Given the description of an element on the screen output the (x, y) to click on. 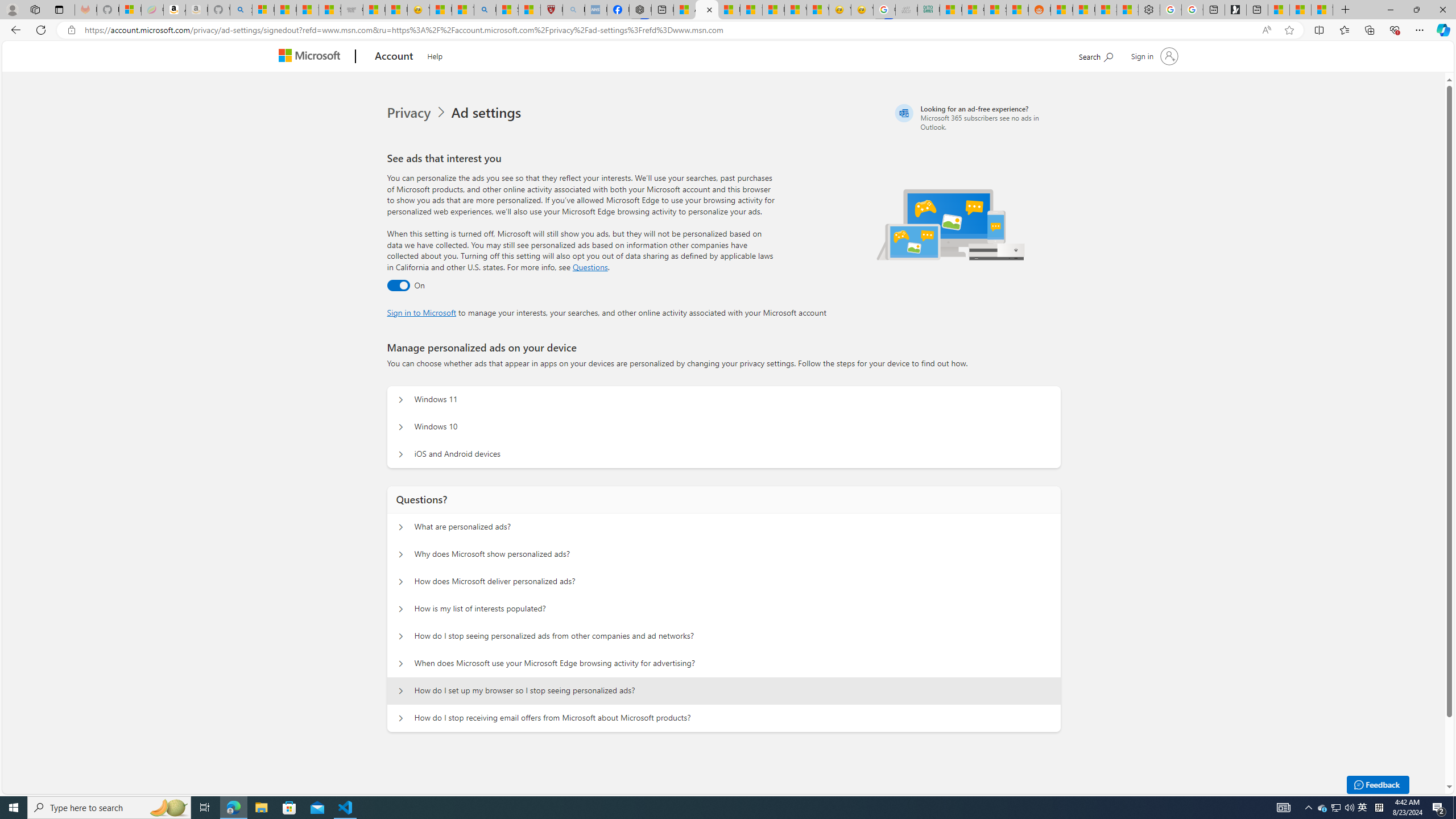
Manage personalized ads on your device Windows 11 (401, 400)
Search Microsoft.com (1095, 54)
14 Common Myths Debunked By Scientific Facts (751, 9)
Questions? Why does Microsoft show personalized ads? (401, 554)
Robert H. Shmerling, MD - Harvard Health (551, 9)
